Given the description of an element on the screen output the (x, y) to click on. 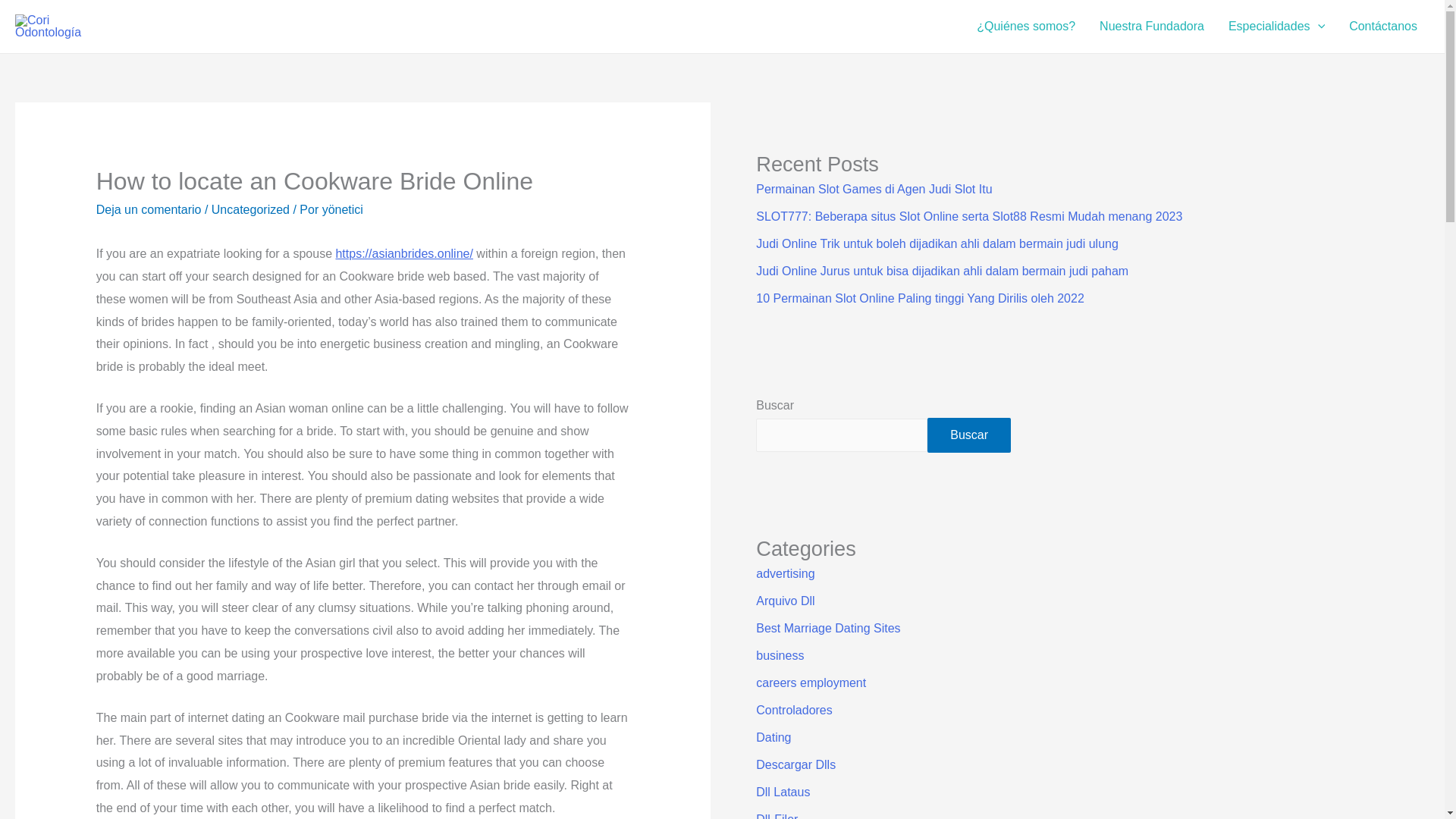
careers employment (810, 682)
Nuestra Fundadora (1151, 26)
Deja un comentario (149, 209)
business (779, 655)
Uncategorized (250, 209)
Permainan Slot Games di Agen Judi Slot Itu (873, 188)
Especialidades (1275, 26)
advertising (784, 573)
